Given the description of an element on the screen output the (x, y) to click on. 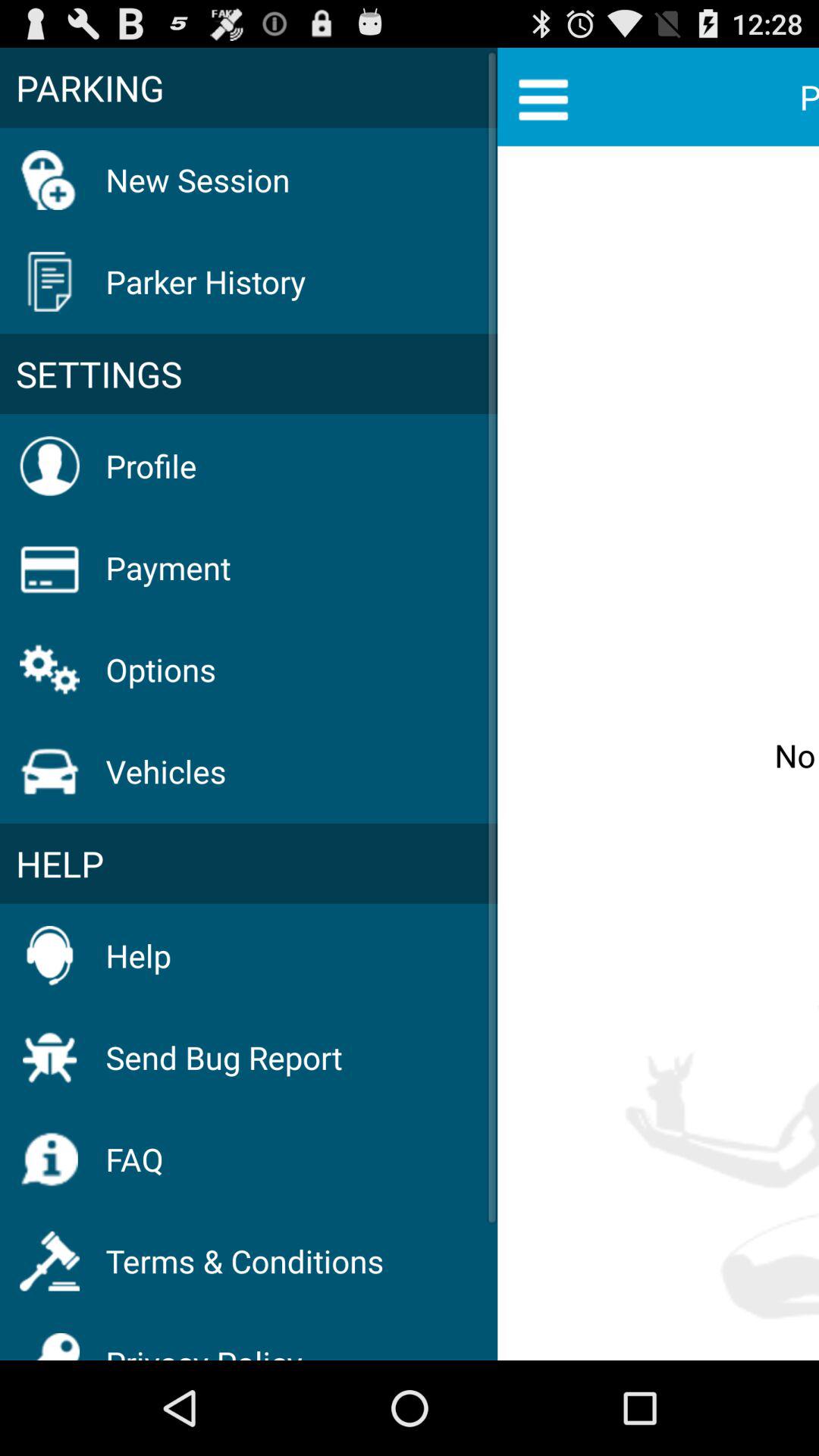
tap icon next to the no parking history (248, 373)
